Given the description of an element on the screen output the (x, y) to click on. 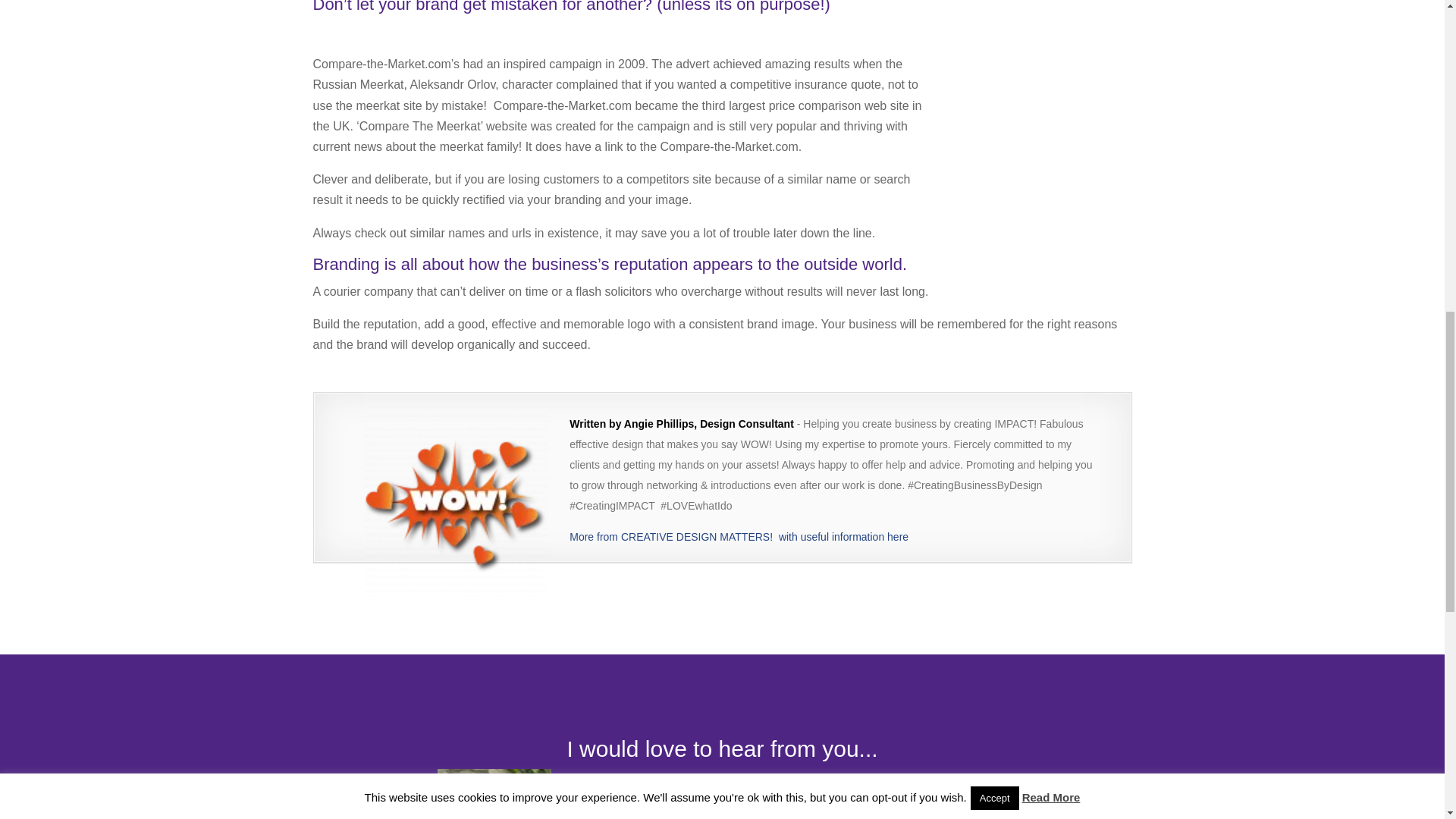
logo (135, 664)
unique selling proposition (332, 664)
I would love to hear from you... (721, 748)
unique selling point (205, 664)
USP (419, 664)
branding (92, 664)
brand (48, 664)
